Given the description of an element on the screen output the (x, y) to click on. 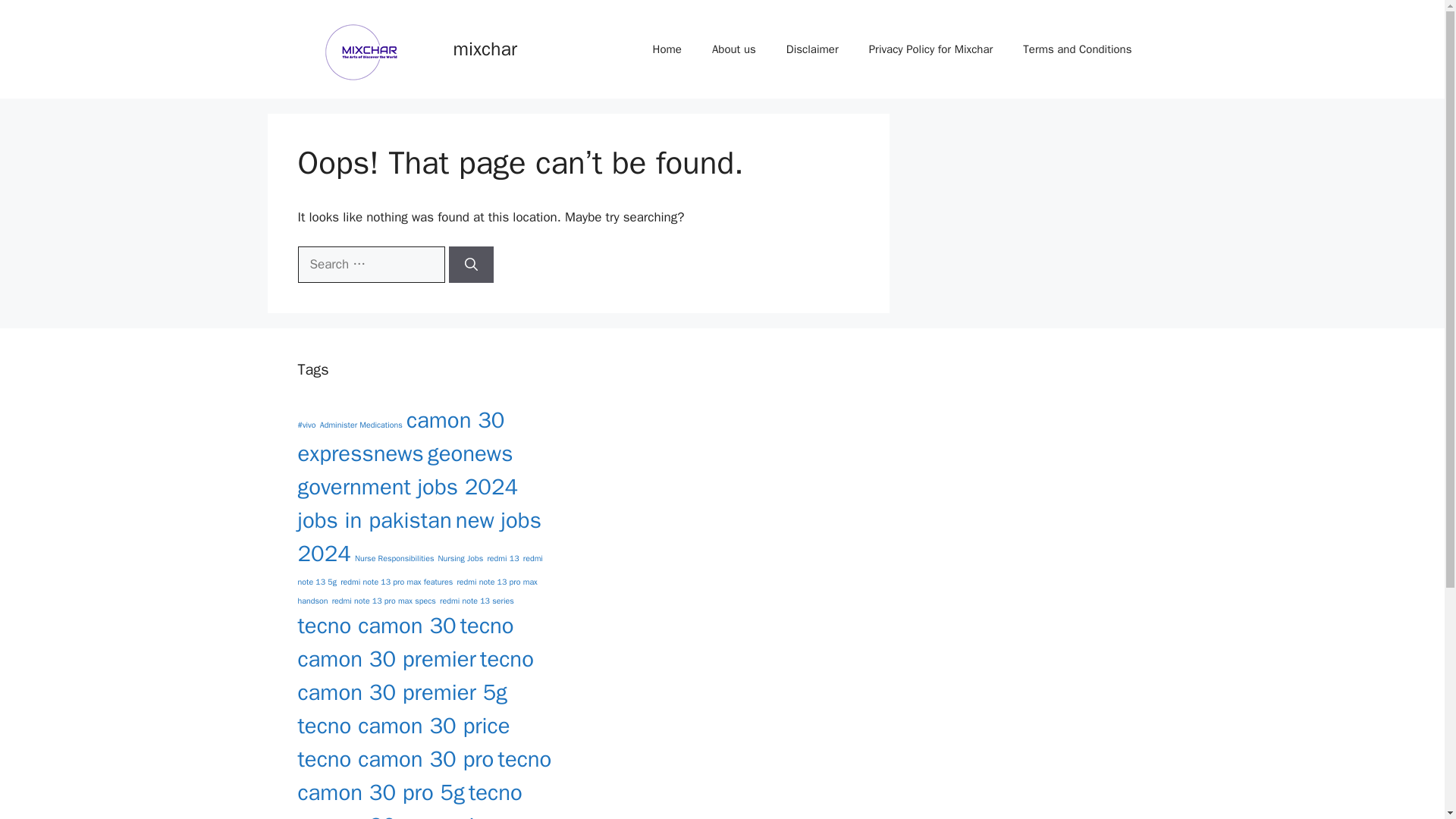
Nursing Jobs (460, 558)
Terms and Conditions (1077, 49)
Home (667, 49)
redmi 13 (502, 558)
redmi note 13 pro max specs (383, 601)
tecno camon 30 premier (405, 642)
Administer Medications (361, 424)
redmi note 13 5g (419, 570)
geonews (470, 453)
About us (734, 49)
